Given the description of an element on the screen output the (x, y) to click on. 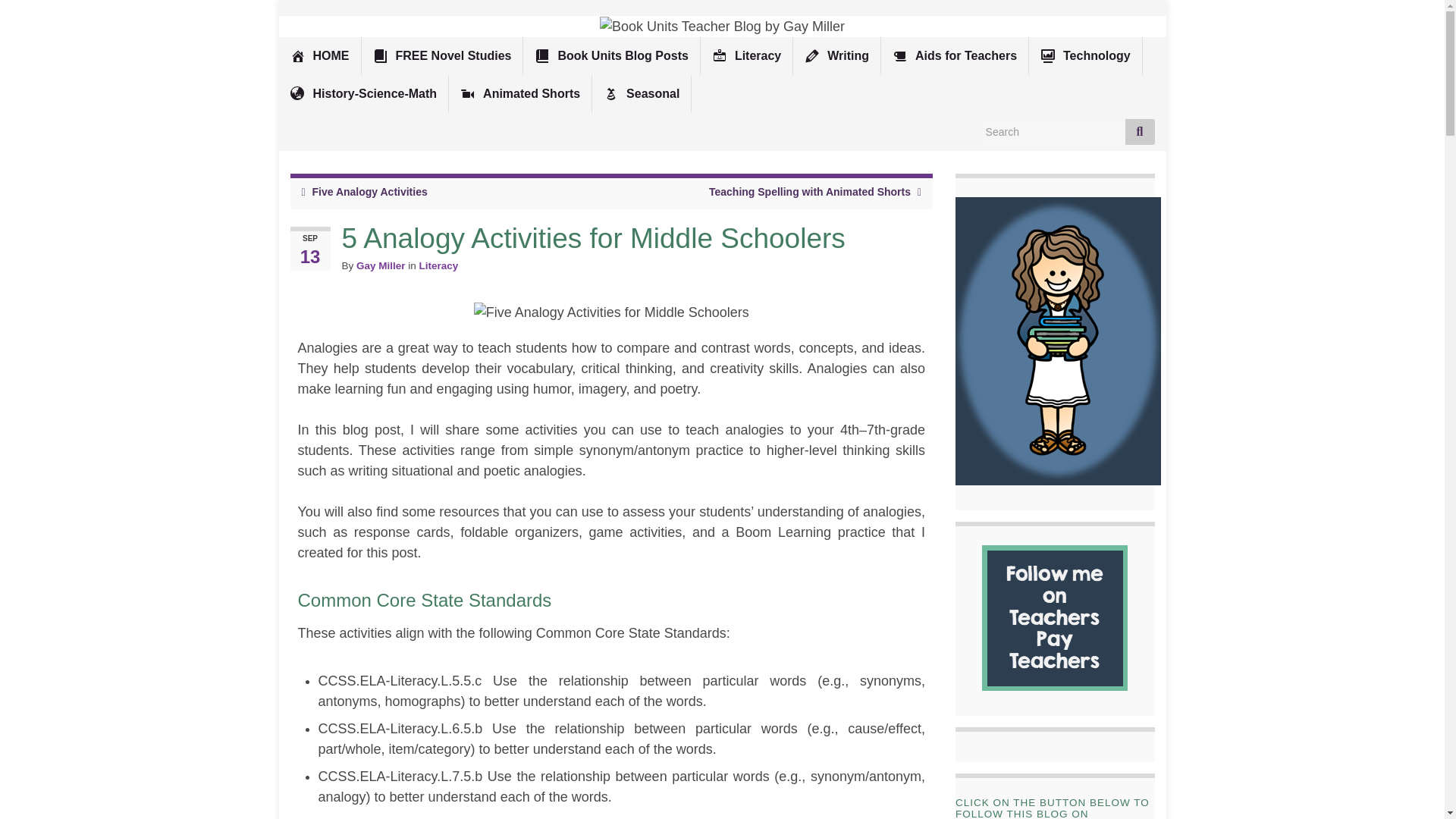
Technology (1085, 55)
Seasonal (641, 94)
Literacy (438, 265)
History-Science-Math (363, 94)
Animated Shorts (519, 94)
Book Units Teacher Blog by Gay Miller (721, 26)
Gay Miller (381, 265)
Teaching Spelling with Animated Shorts (810, 191)
FREE Novel Studies (441, 55)
Five Analogy Activities (370, 191)
